Given the description of an element on the screen output the (x, y) to click on. 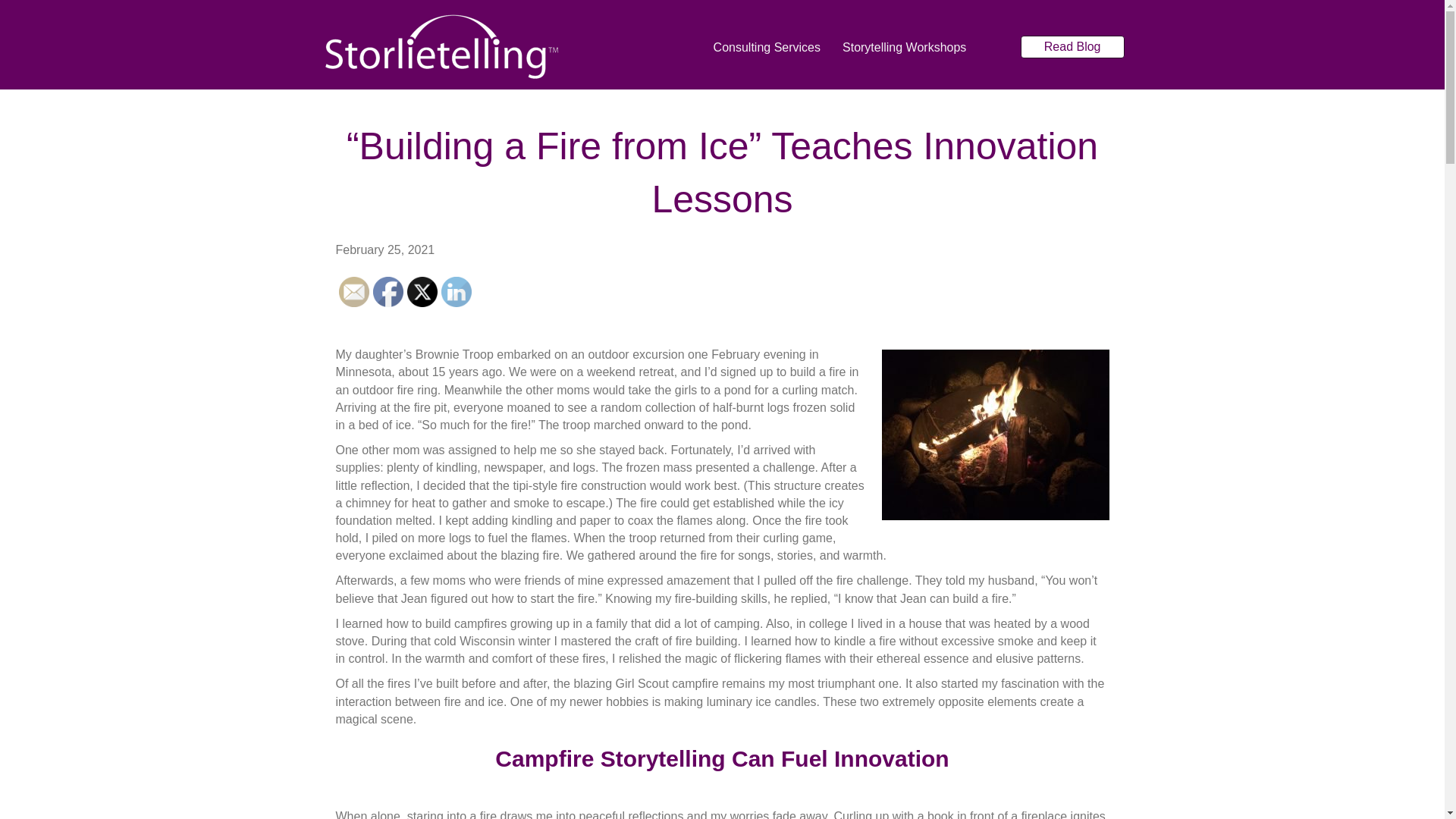
Follow by Email (352, 291)
Consulting Services (767, 46)
Twitter (421, 291)
Read Blog (1072, 46)
LinkedIn (456, 291)
Facebook (387, 291)
white-logstorlietelling-320x93 (441, 46)
Storytelling Workshops (903, 46)
